Given the description of an element on the screen output the (x, y) to click on. 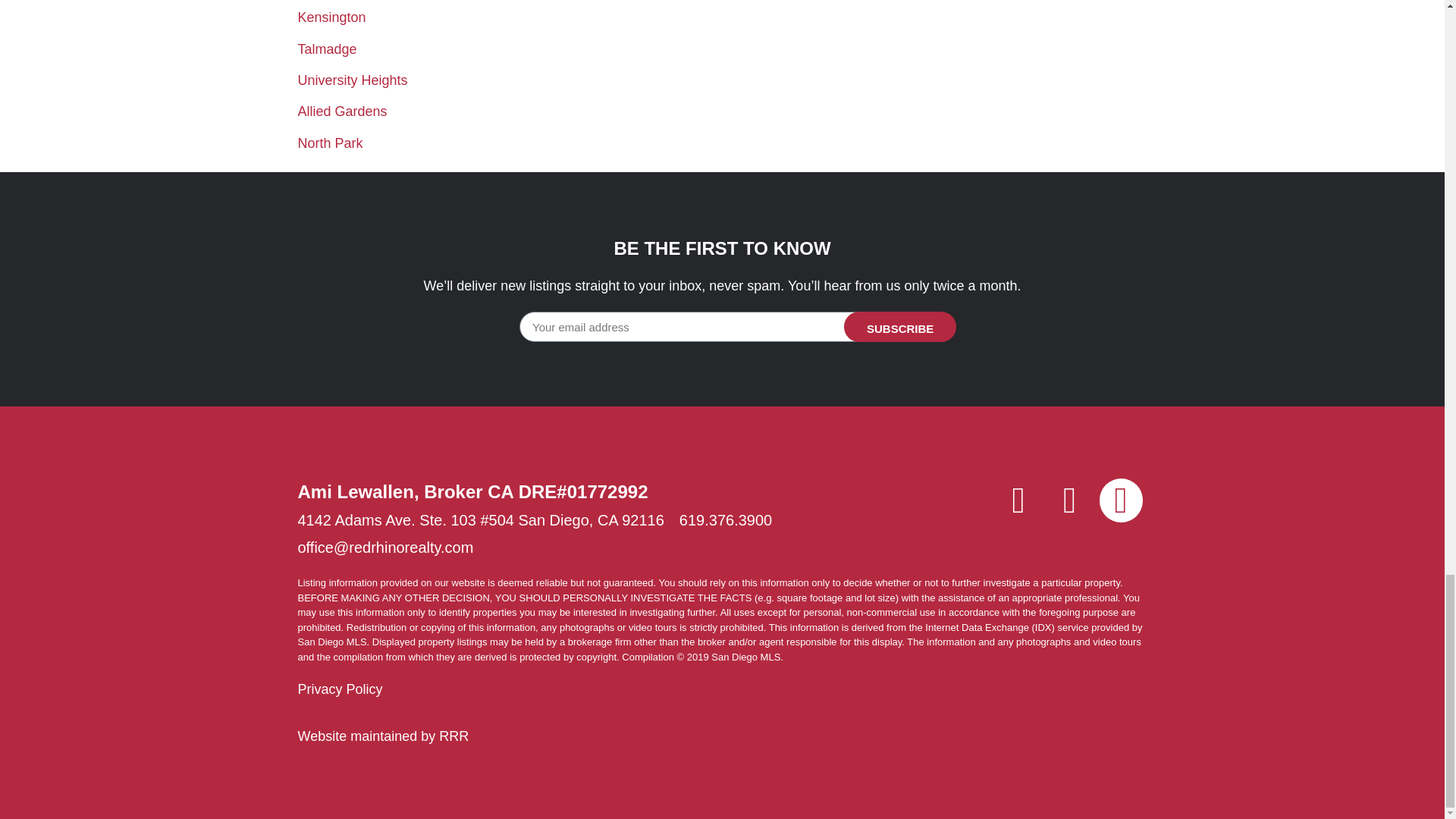
SUBSCRIBE (900, 327)
619.376.3900 (725, 519)
Privacy Policy (339, 688)
Kensington (331, 17)
University Heights (352, 79)
North Park (329, 142)
Allied Gardens (342, 111)
Talmadge (326, 48)
